Given the description of an element on the screen output the (x, y) to click on. 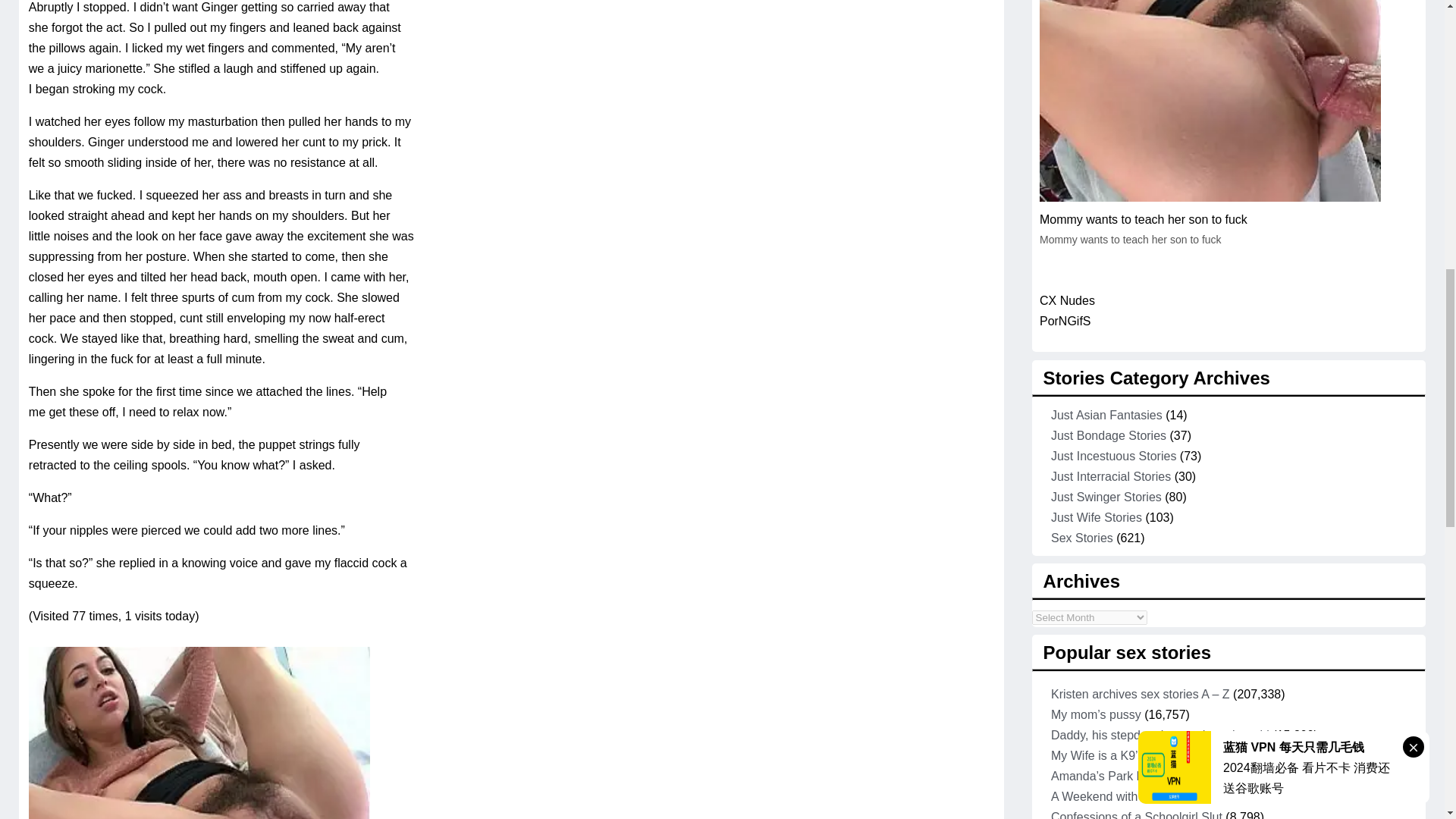
CX Nudes (1066, 300)
Sex Stories (1082, 537)
Just Interracial Stories (1110, 476)
A Weekend with my kinky Nieces (1139, 796)
Just Wife Stories (1096, 517)
Just Swinger Stories (1106, 496)
PorNGifS (1064, 320)
Just Incestuous Stories (1113, 455)
Just Bondage Stories (1108, 435)
Daddy, his stepdaughter and another girl (1160, 735)
Just Asian Fantasies (1106, 414)
